Given the description of an element on the screen output the (x, y) to click on. 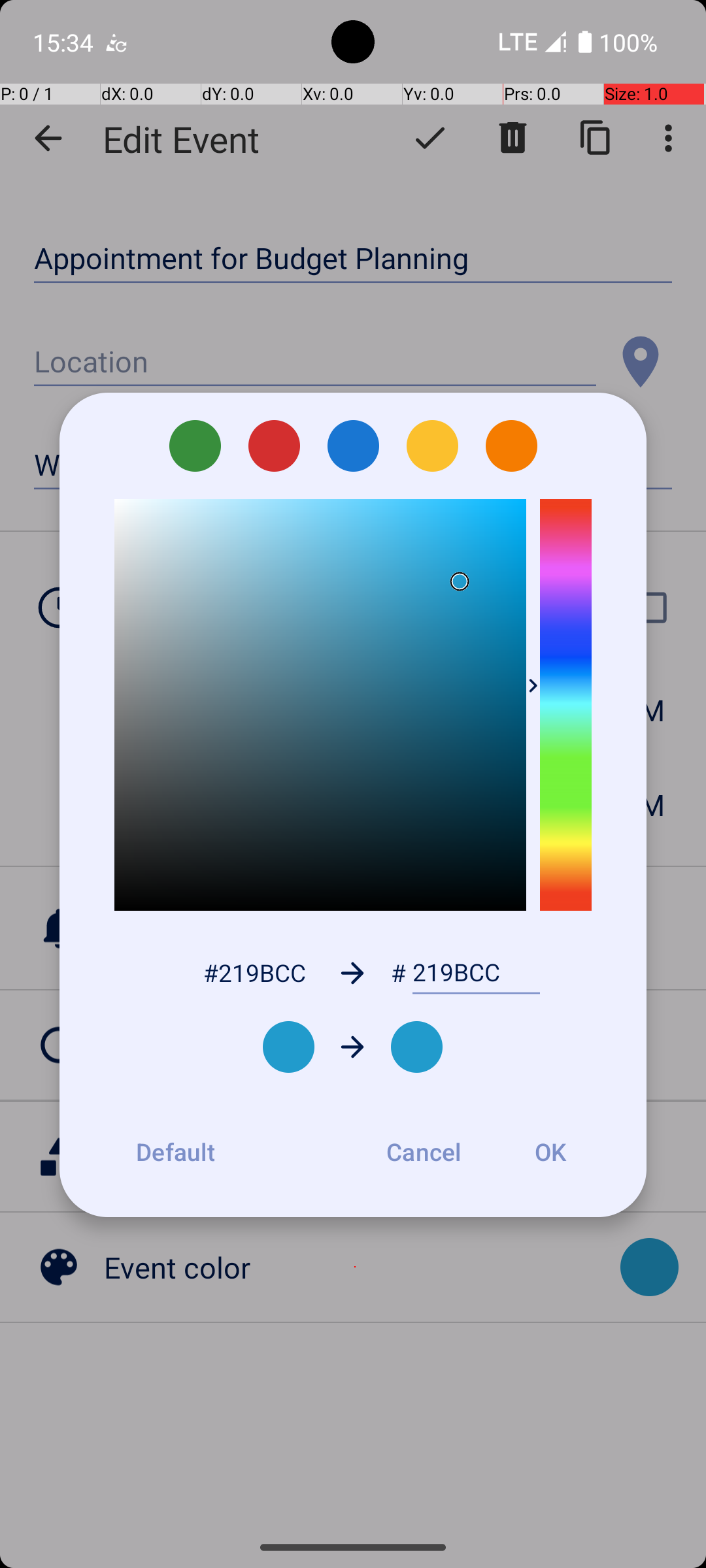
#219BCC Element type: android.widget.TextView (254, 972)
219BCC Element type: android.widget.EditText (475, 972)
Default Element type: android.widget.Button (174, 1151)
